Given the description of an element on the screen output the (x, y) to click on. 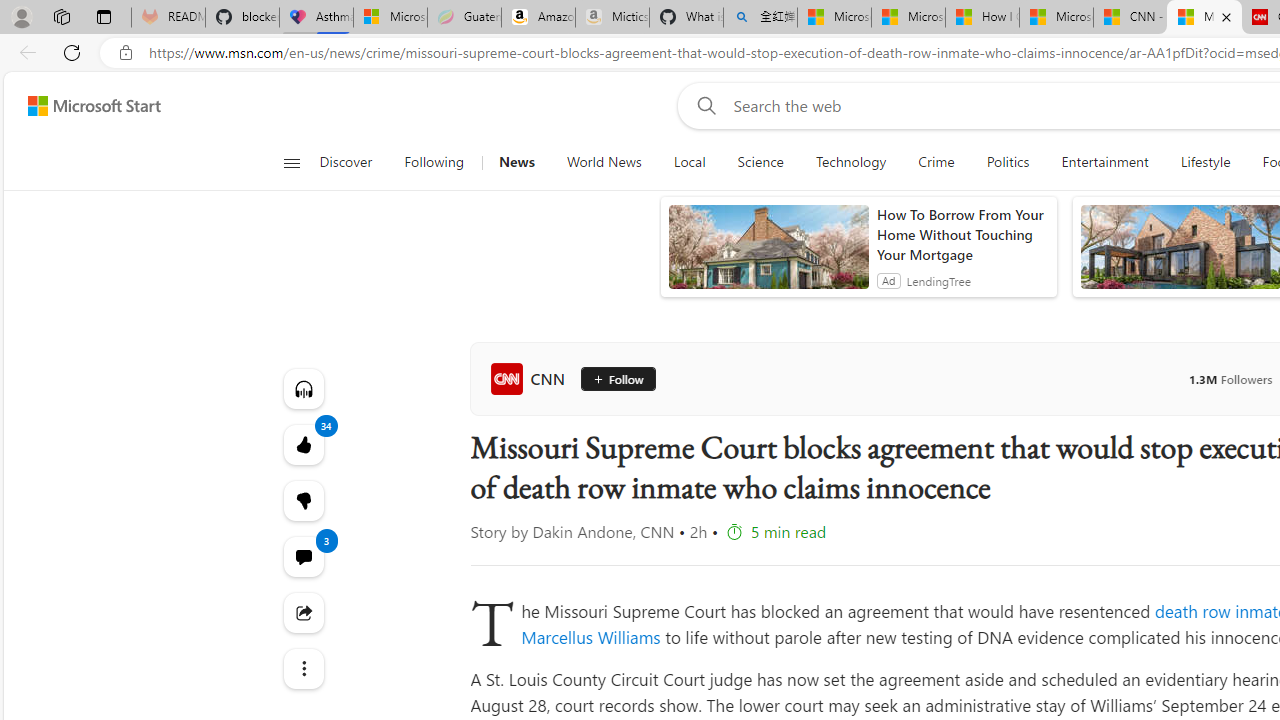
anim-content (768, 255)
Discover (353, 162)
Technology (850, 162)
CNN - MSN (1130, 17)
World News (603, 162)
Workspaces (61, 16)
Politics (1007, 162)
Microsoft Start (1056, 17)
